Given the description of an element on the screen output the (x, y) to click on. 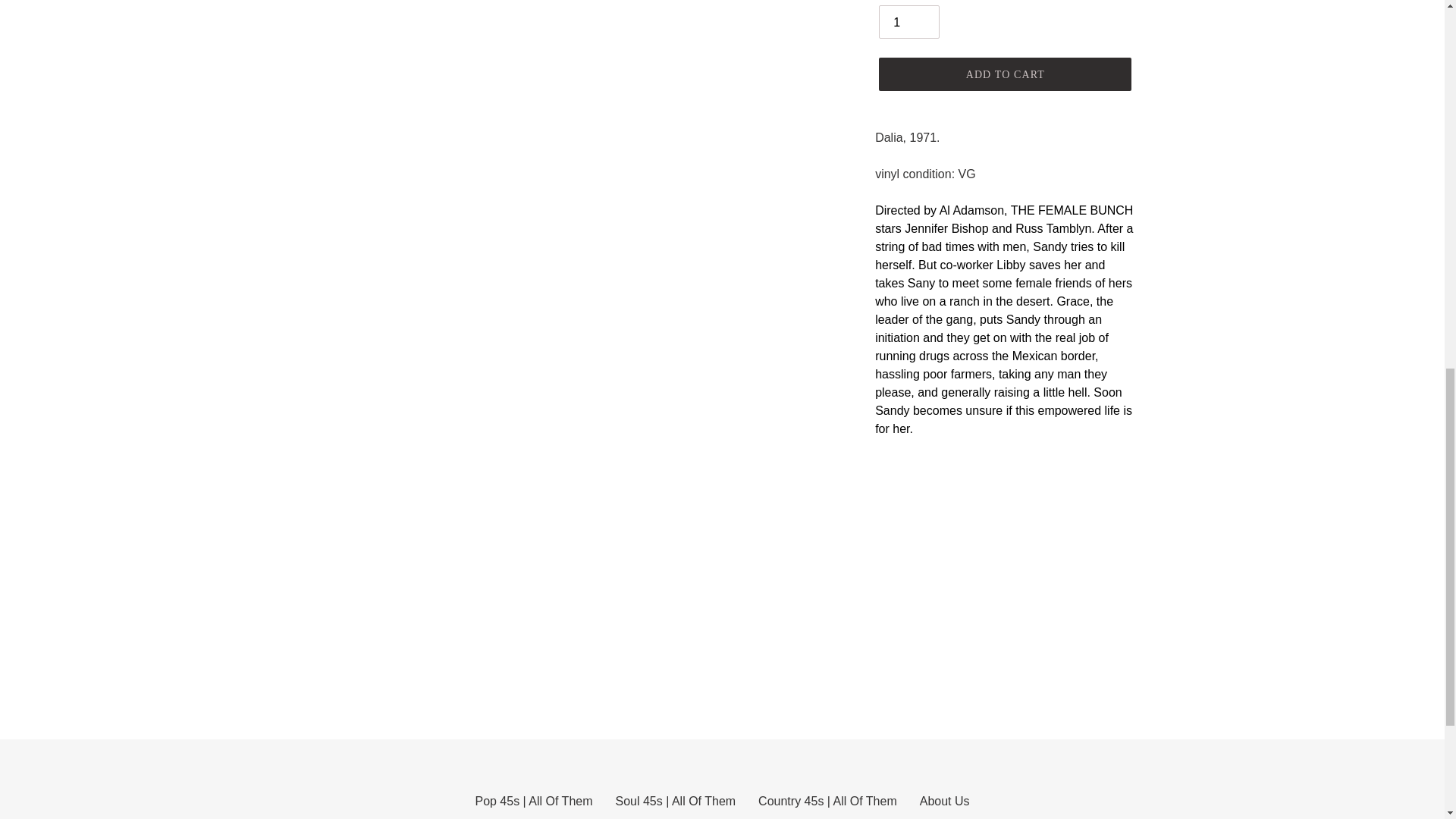
YouTube video player (1087, 572)
1 (909, 21)
